Given the description of an element on the screen output the (x, y) to click on. 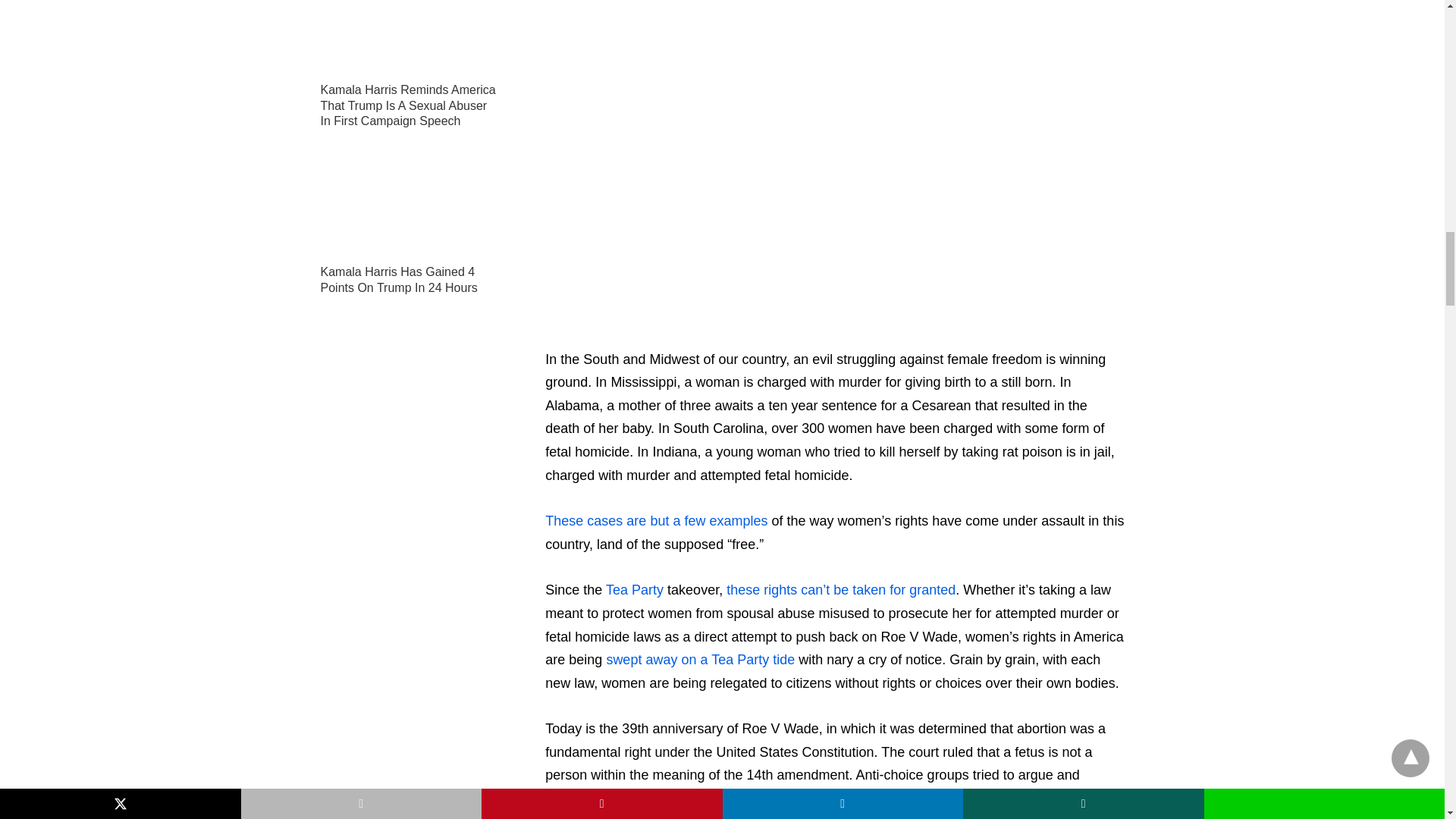
swept away on a Tea Party tide (699, 659)
These cases are but a few examples (655, 520)
Tea Party (634, 589)
